Given the description of an element on the screen output the (x, y) to click on. 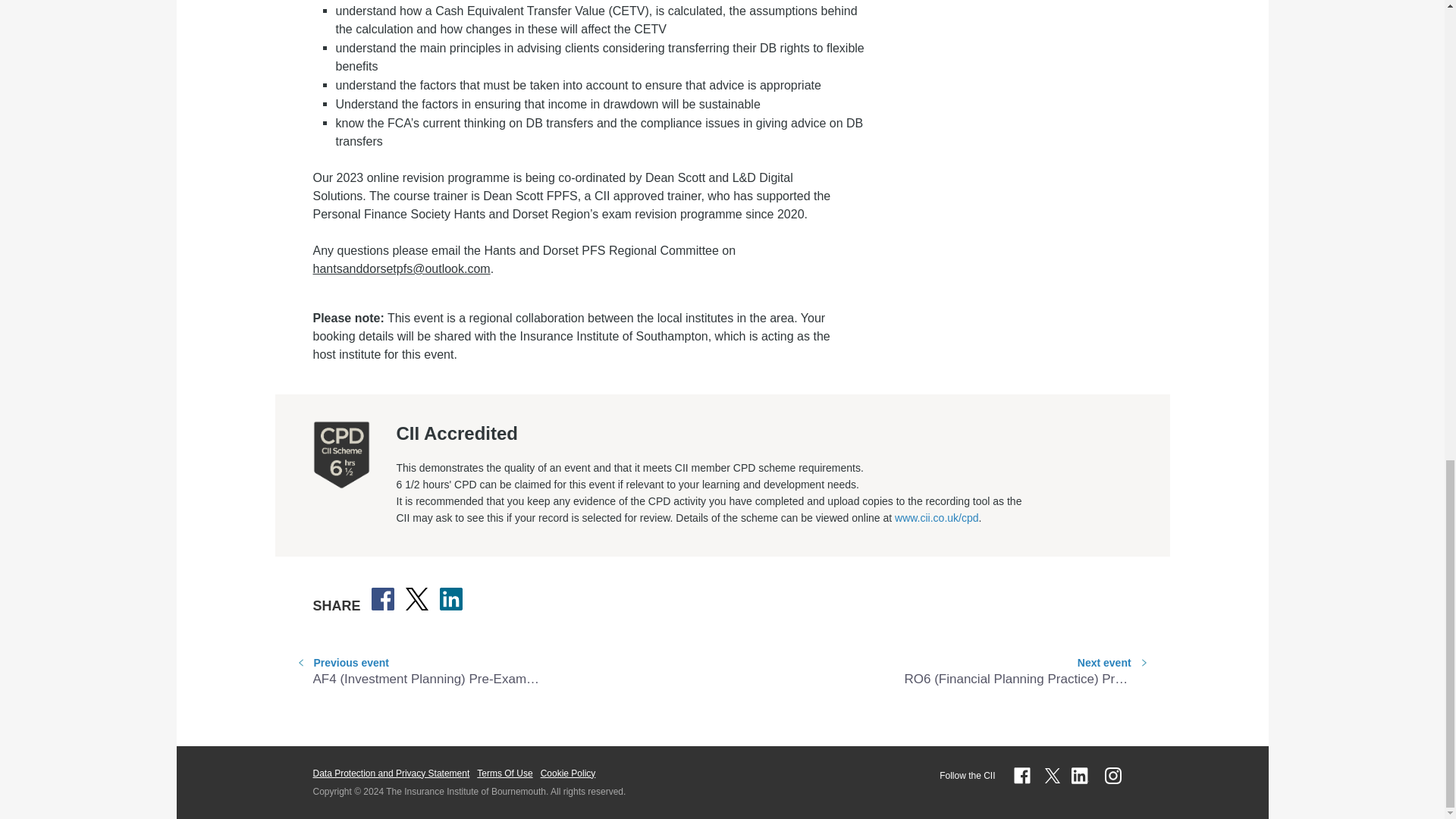
Data Protection and Privacy Statement (390, 772)
Terms Of Use (504, 772)
Cookie Policy (567, 772)
